Given the description of an element on the screen output the (x, y) to click on. 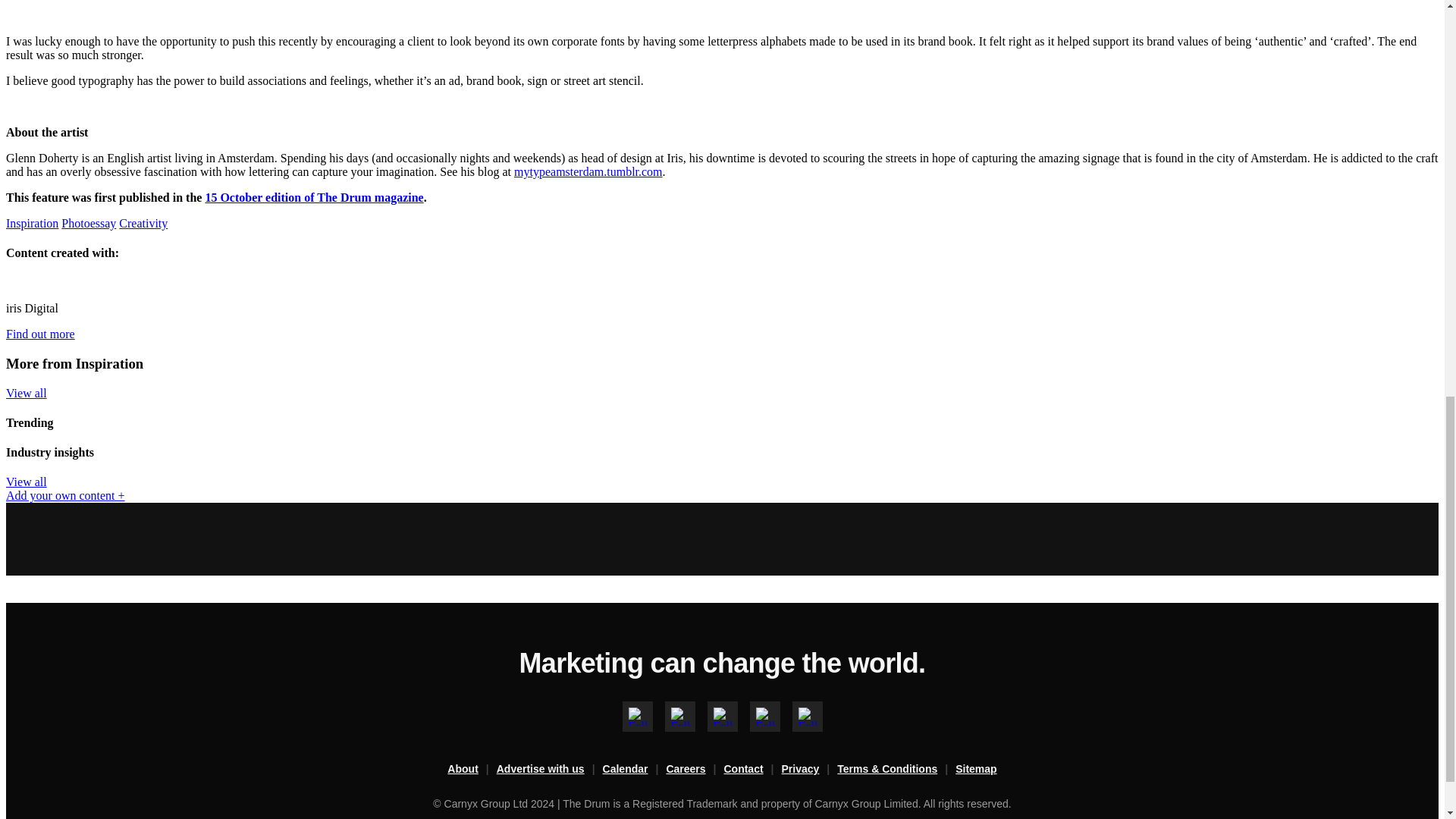
Photoessay (88, 223)
View all (25, 481)
mytypeamsterdam.tumblr.com (587, 171)
About (471, 769)
Creativity (143, 223)
Find out more (40, 333)
Inspiration (31, 223)
Advertise with us (549, 769)
15 October edition of The Drum magazine (314, 196)
View all (25, 392)
